Given the description of an element on the screen output the (x, y) to click on. 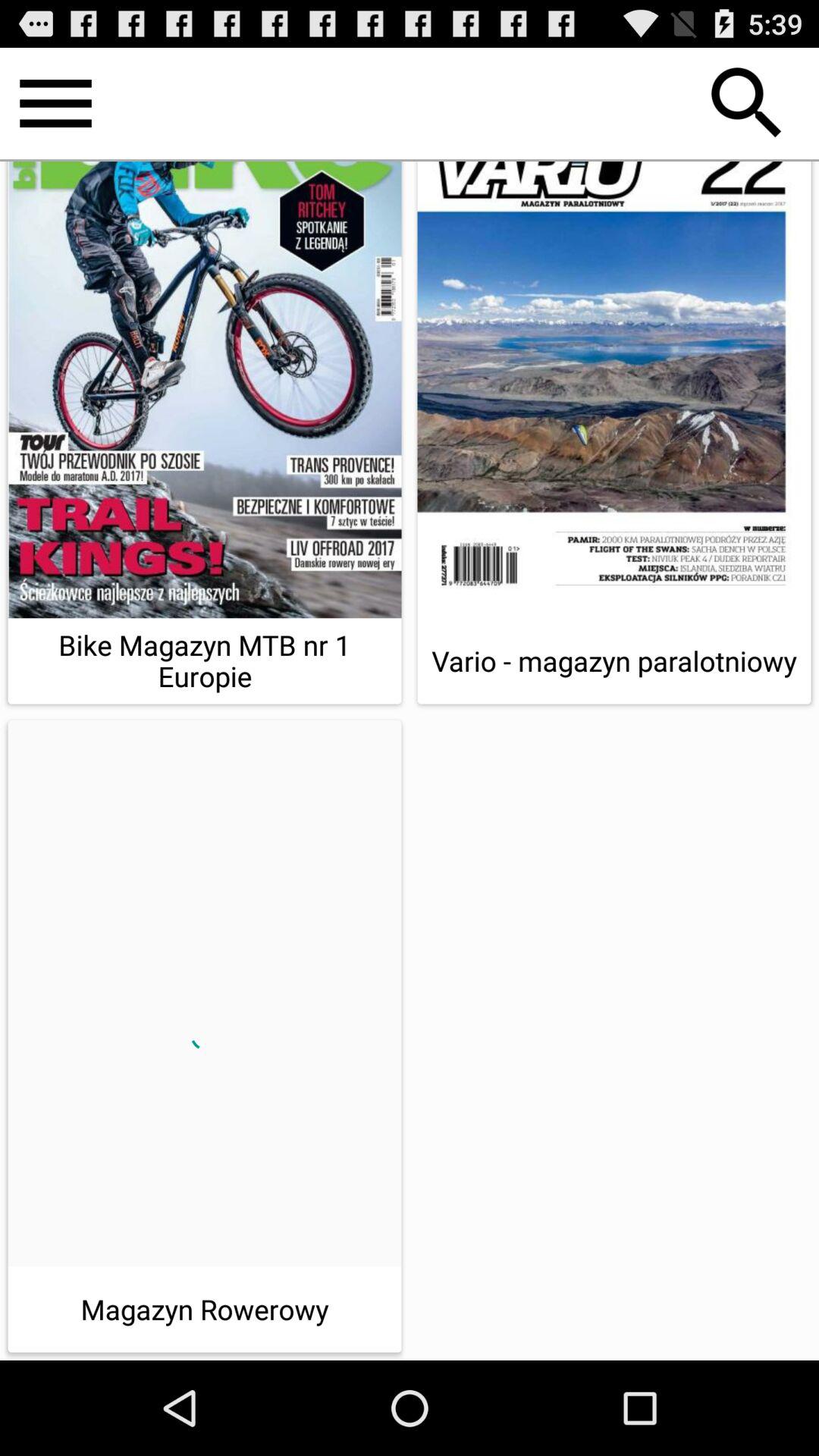
menu button (55, 103)
